Given the description of an element on the screen output the (x, y) to click on. 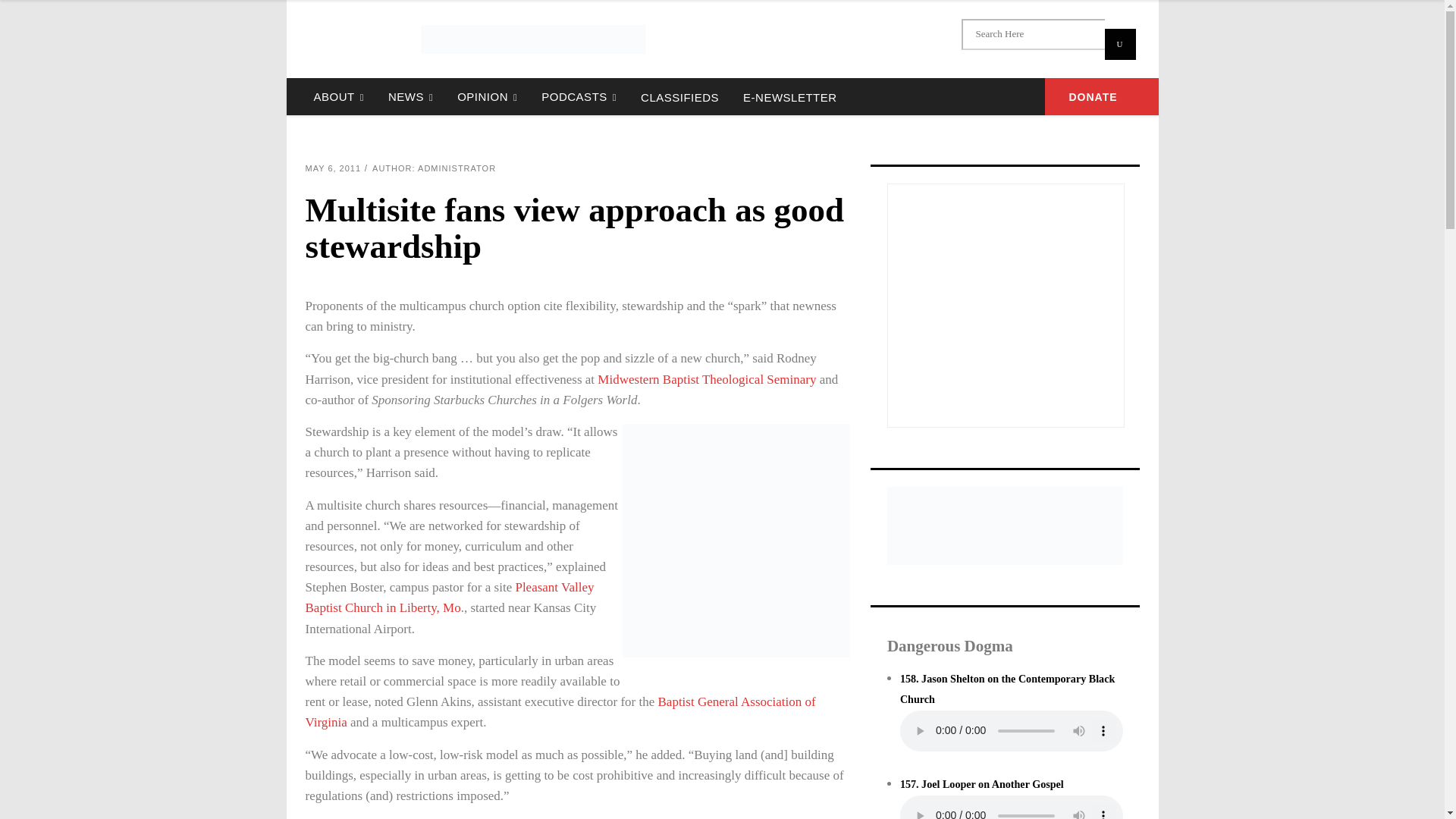
U (1119, 43)
PODCASTS (578, 96)
CLASSIFIEDS (679, 96)
U (1119, 43)
OPINION (487, 96)
NEWS (410, 96)
ABOUT (338, 96)
U (1119, 43)
DONATE (1101, 96)
E-NEWSLETTER (789, 96)
